Given the description of an element on the screen output the (x, y) to click on. 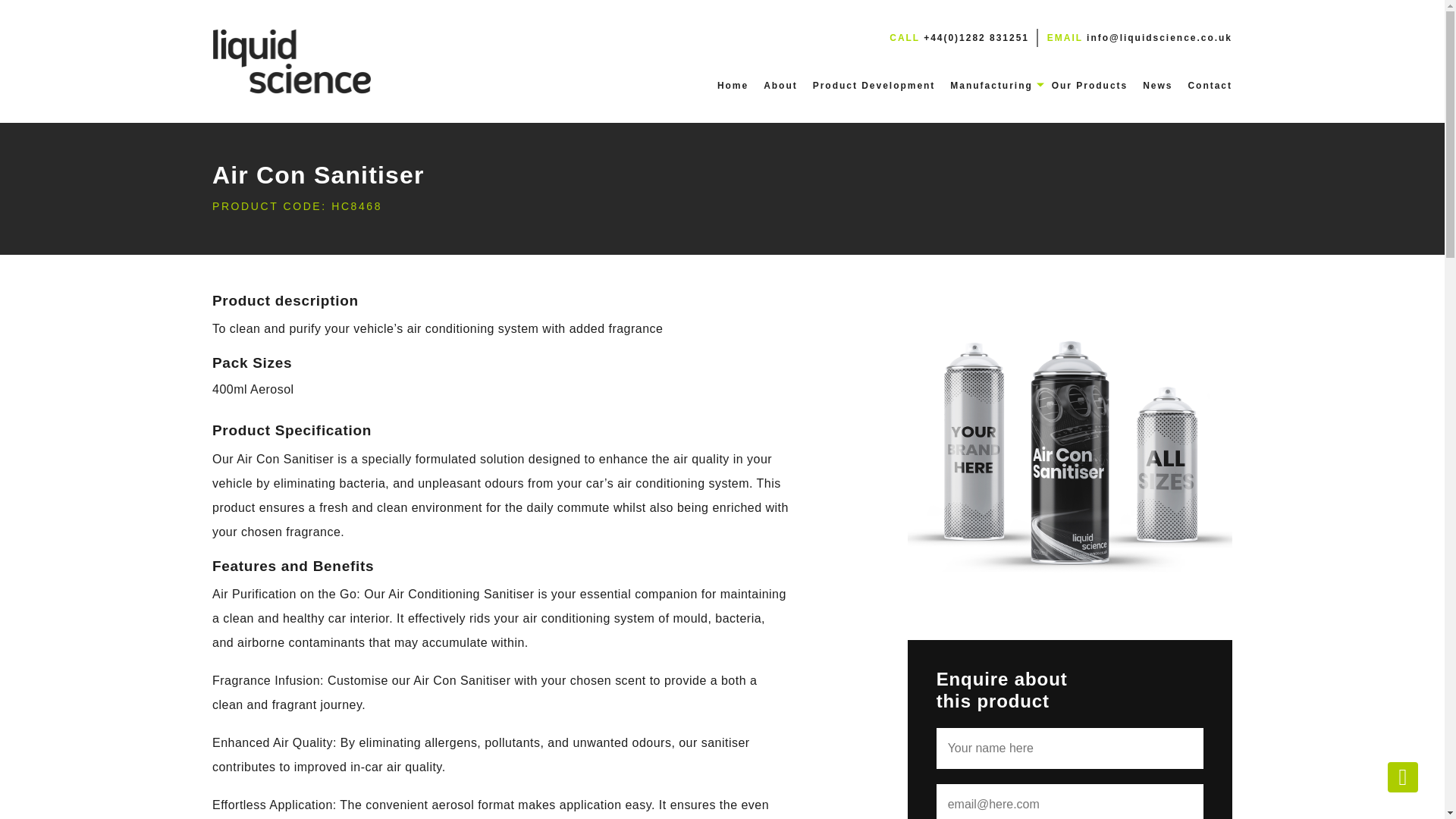
Contact (1209, 85)
Our Products (1088, 85)
Product Development (874, 85)
About (779, 85)
Home (732, 85)
News (1157, 85)
Manufacturing (991, 85)
